Given the description of an element on the screen output the (x, y) to click on. 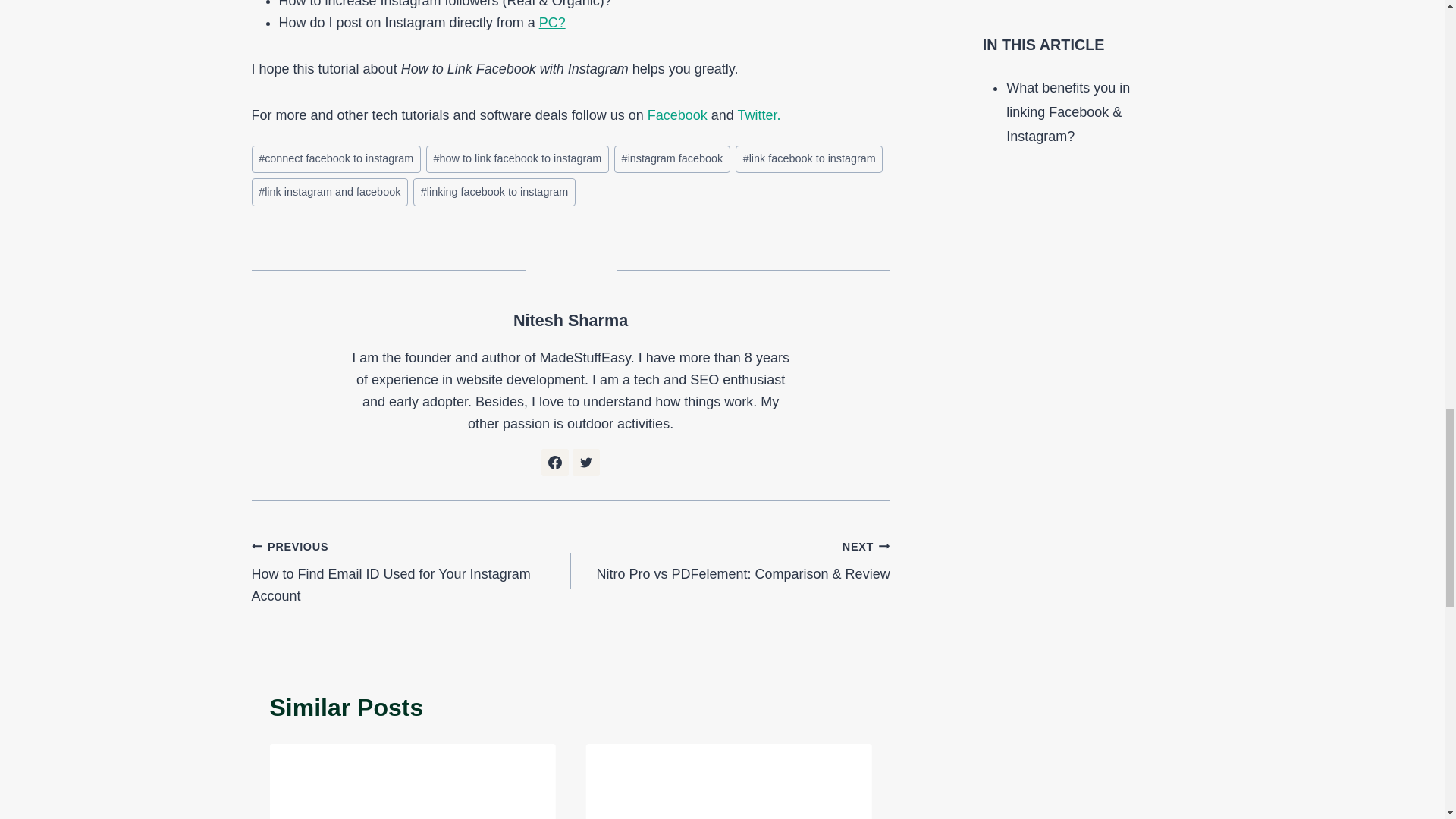
Facebook (677, 114)
link facebook to instagram (808, 159)
Posts by Nitesh Sharma (570, 320)
Follow Nitesh Sharma on Twitter (585, 461)
Twitter. (759, 114)
instagram facebook (672, 159)
PC? (552, 22)
connect facebook to instagram (335, 159)
Follow Nitesh Sharma on Facebook (555, 461)
